Given the description of an element on the screen output the (x, y) to click on. 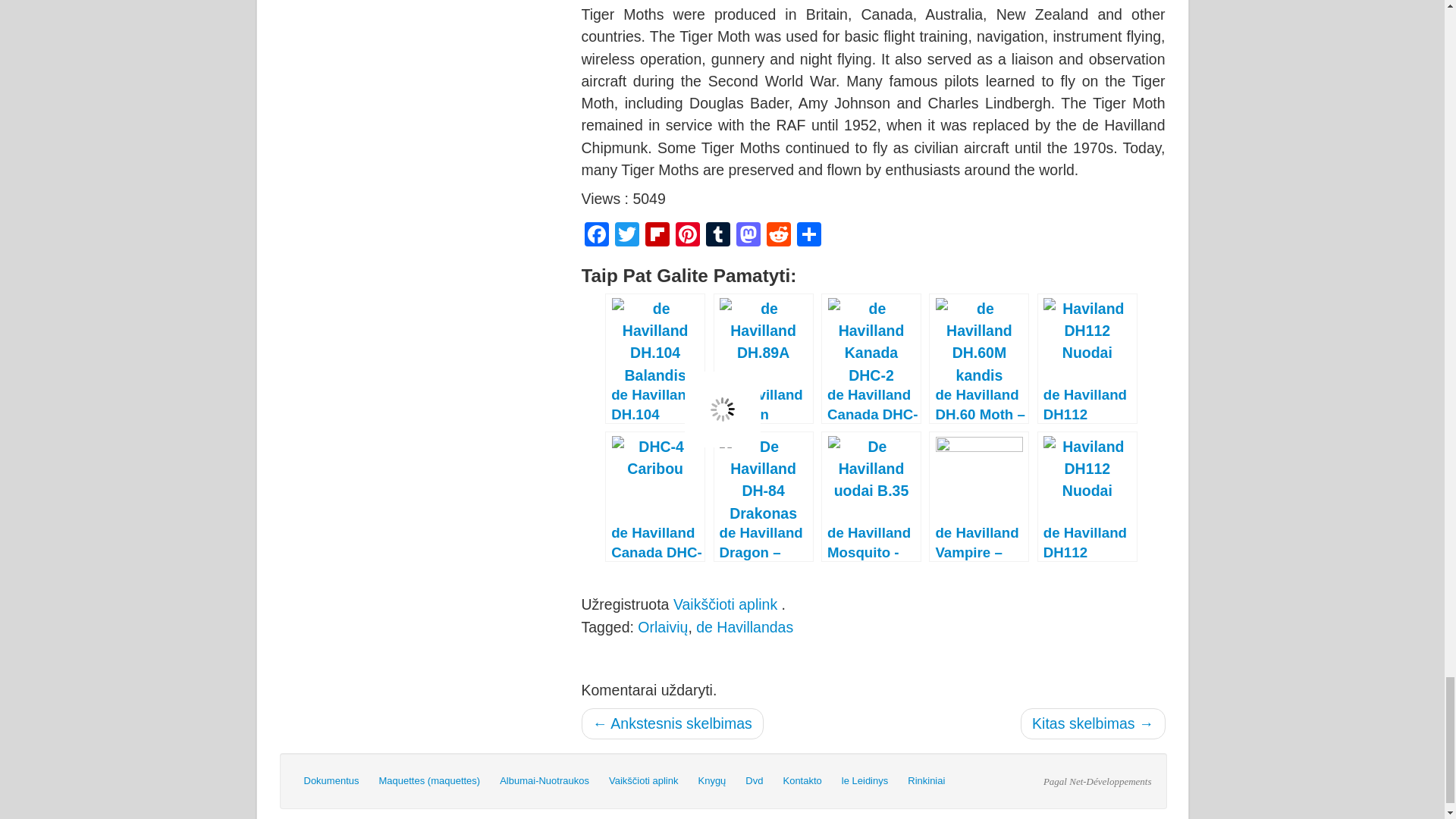
Twitter (626, 235)
Mastodonas (747, 235)
Tumblr (716, 235)
Pinterest (686, 235)
Reddit (777, 235)
Facebook (595, 235)
